Given the description of an element on the screen output the (x, y) to click on. 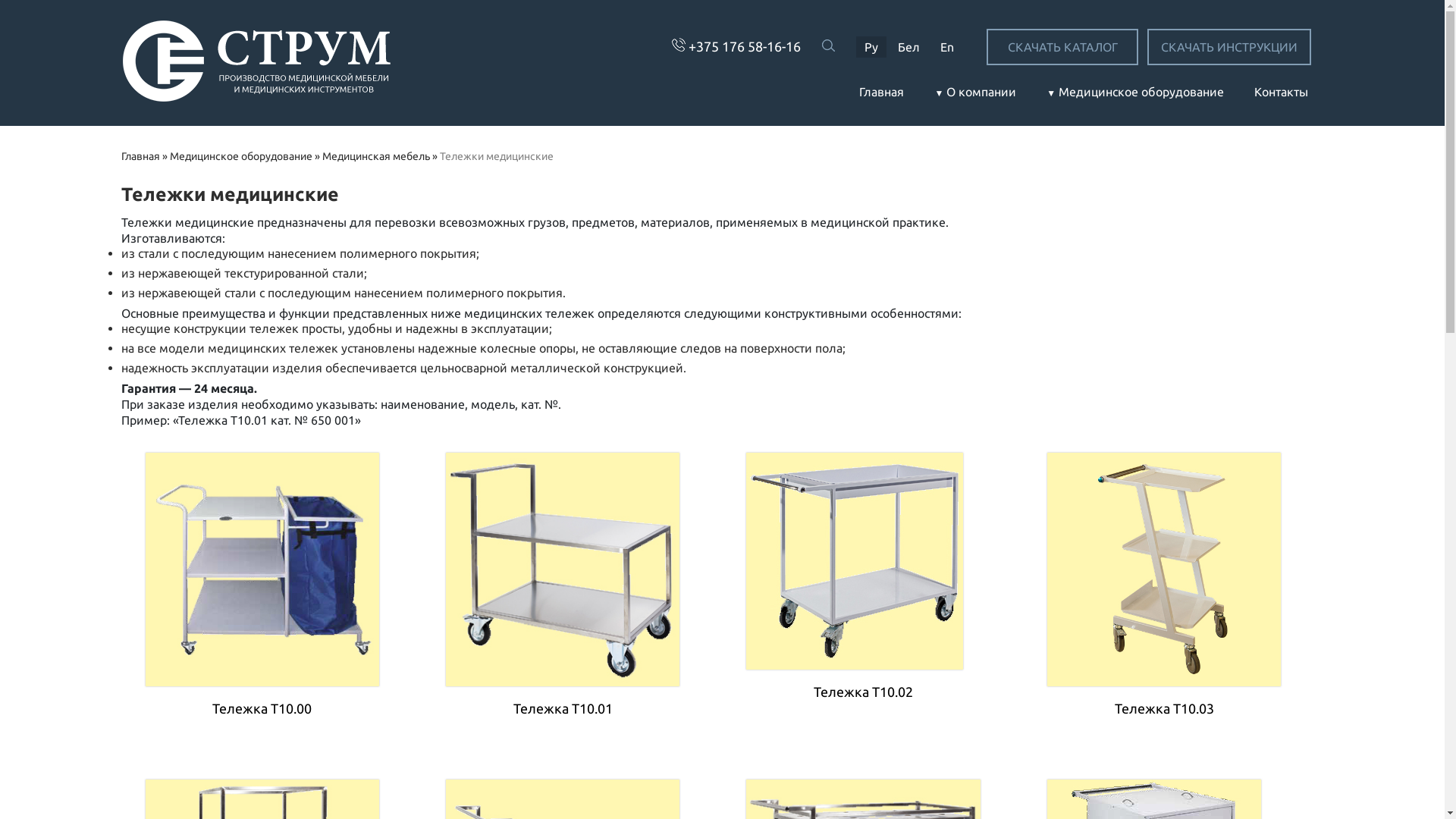
En Element type: text (946, 46)
+375 176 58-16-16 Element type: text (744, 45)
